Given the description of an element on the screen output the (x, y) to click on. 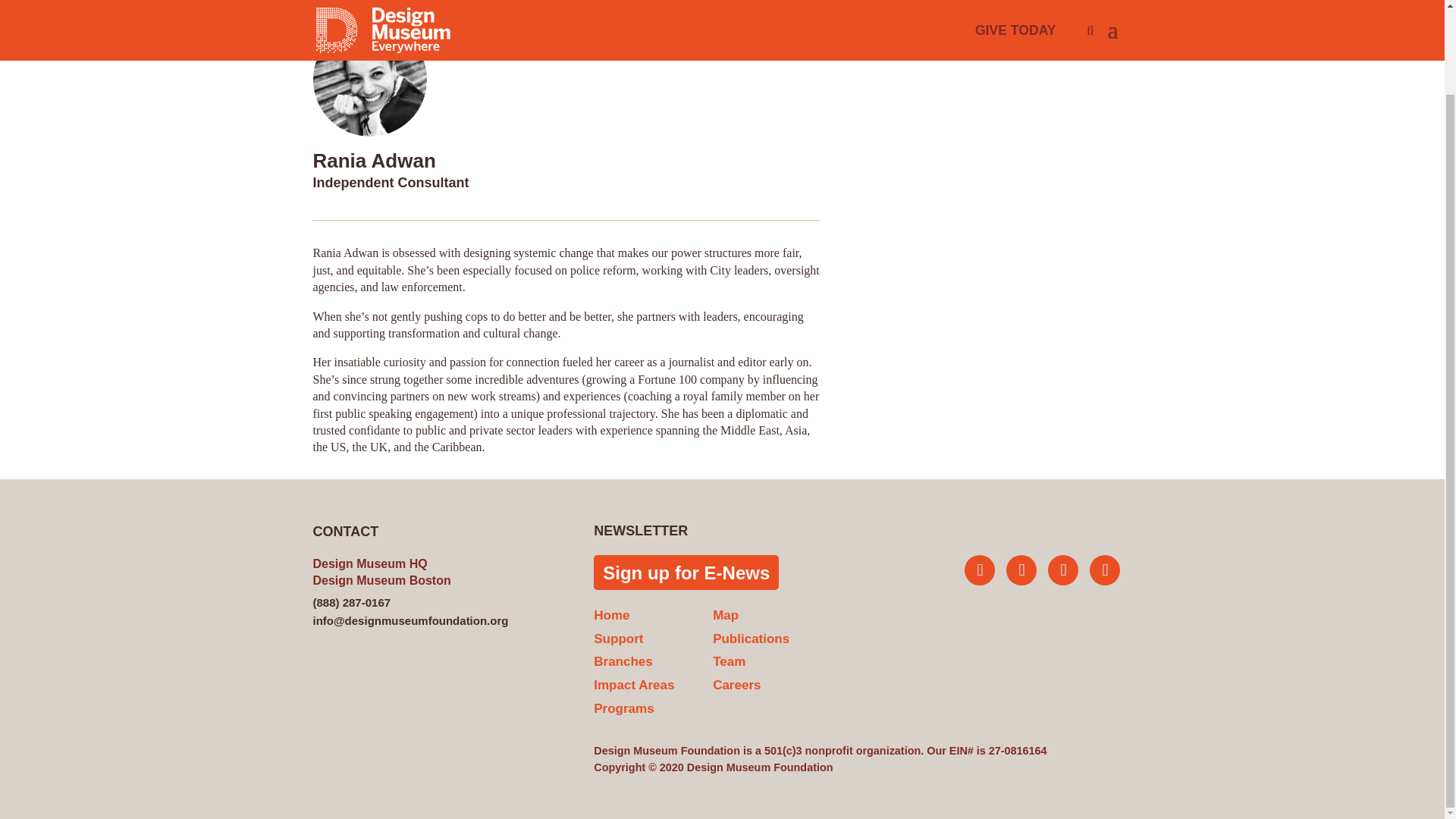
COUNCIL (385, 0)
Follow on Twitter (978, 570)
Branches (623, 661)
Sign up for E-News (686, 572)
Support (618, 638)
Programs (623, 708)
Team (729, 661)
Impact Areas (634, 685)
Publications (751, 638)
Careers (736, 685)
Follow on Instagram (1021, 570)
Home (611, 615)
Follow on Facebook (1063, 570)
TEAM (329, 0)
Follow on LinkedIn (1104, 570)
